Given the description of an element on the screen output the (x, y) to click on. 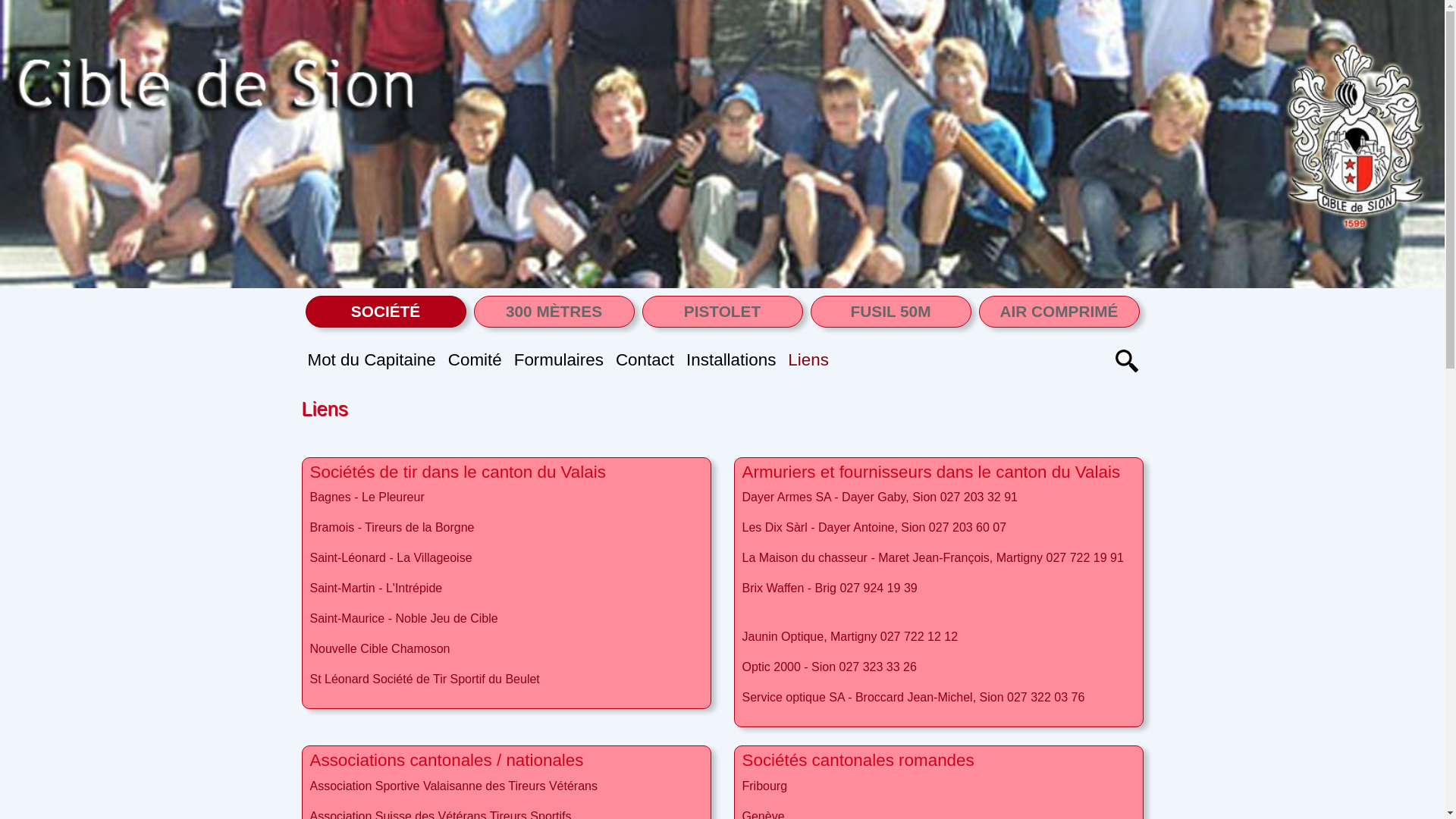
Bagnes - Le Pleureur Element type: text (366, 496)
Dayer Armes SA - Dayer Gaby, Sion 027 203 32 91 Element type: text (878, 496)
Mot du Capitaine Element type: text (371, 360)
Jaunin Optique, Martigny 027 722 12 12 Element type: text (849, 636)
Contact Element type: text (644, 360)
Nouvelle Cible Chamoson Element type: text (379, 648)
FUSIL 50M Element type: text (890, 311)
Fribourg Element type: text (764, 785)
Chercher Element type: hover (1126, 360)
Optic 2000 - Sion 027 323 33 26 Element type: text (828, 666)
Saint-Maurice - Noble Jeu de Cible Element type: text (403, 617)
Installations Element type: text (730, 360)
Bramois - Tireurs de la Borgne Element type: text (391, 526)
Liens Element type: text (807, 360)
PISTOLET Element type: text (722, 311)
Formulaires Element type: text (558, 360)
Brix Waffen - Brig 027 924 19 39 Element type: text (828, 587)
